Given the description of an element on the screen output the (x, y) to click on. 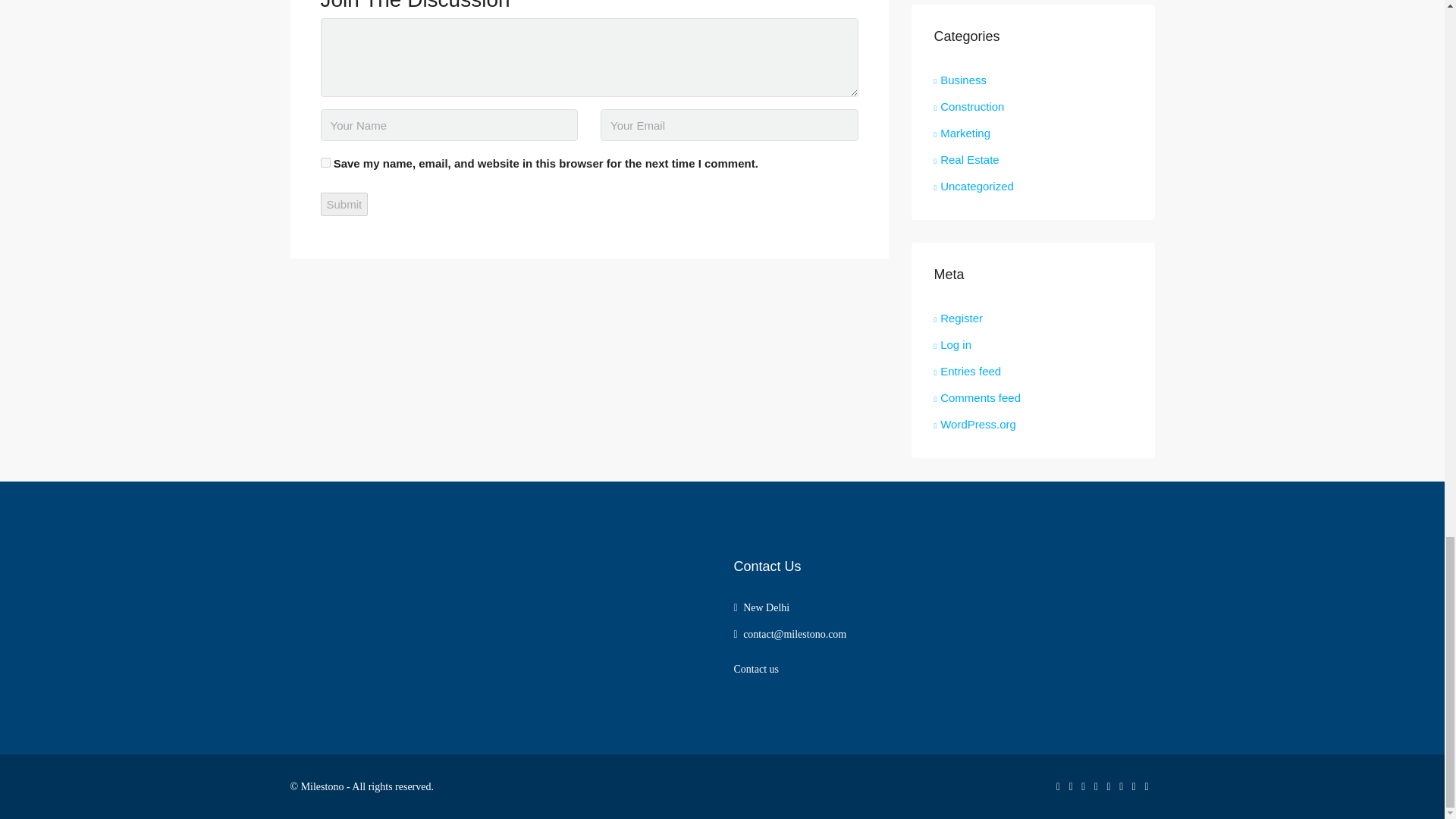
yes (325, 162)
Submit (344, 204)
